Given the description of an element on the screen output the (x, y) to click on. 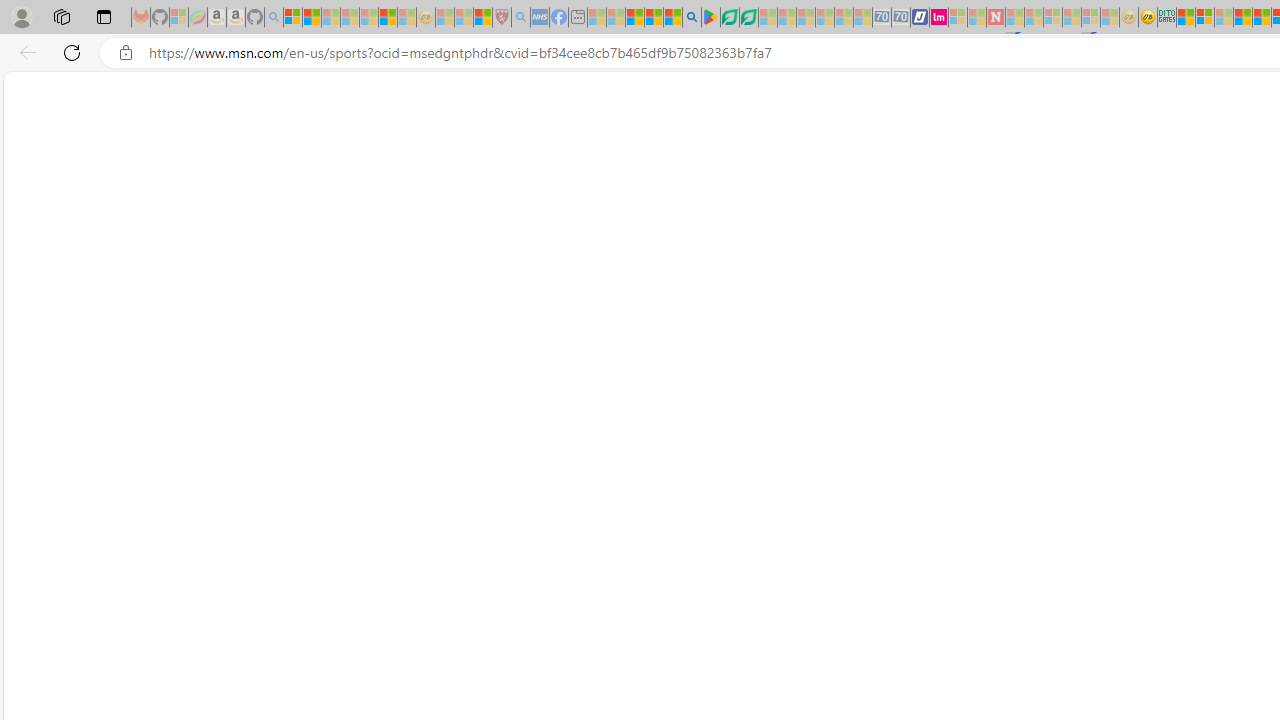
Terms of Use Agreement (729, 17)
Kinda Frugal - MSN (1262, 17)
